Given the description of an element on the screen output the (x, y) to click on. 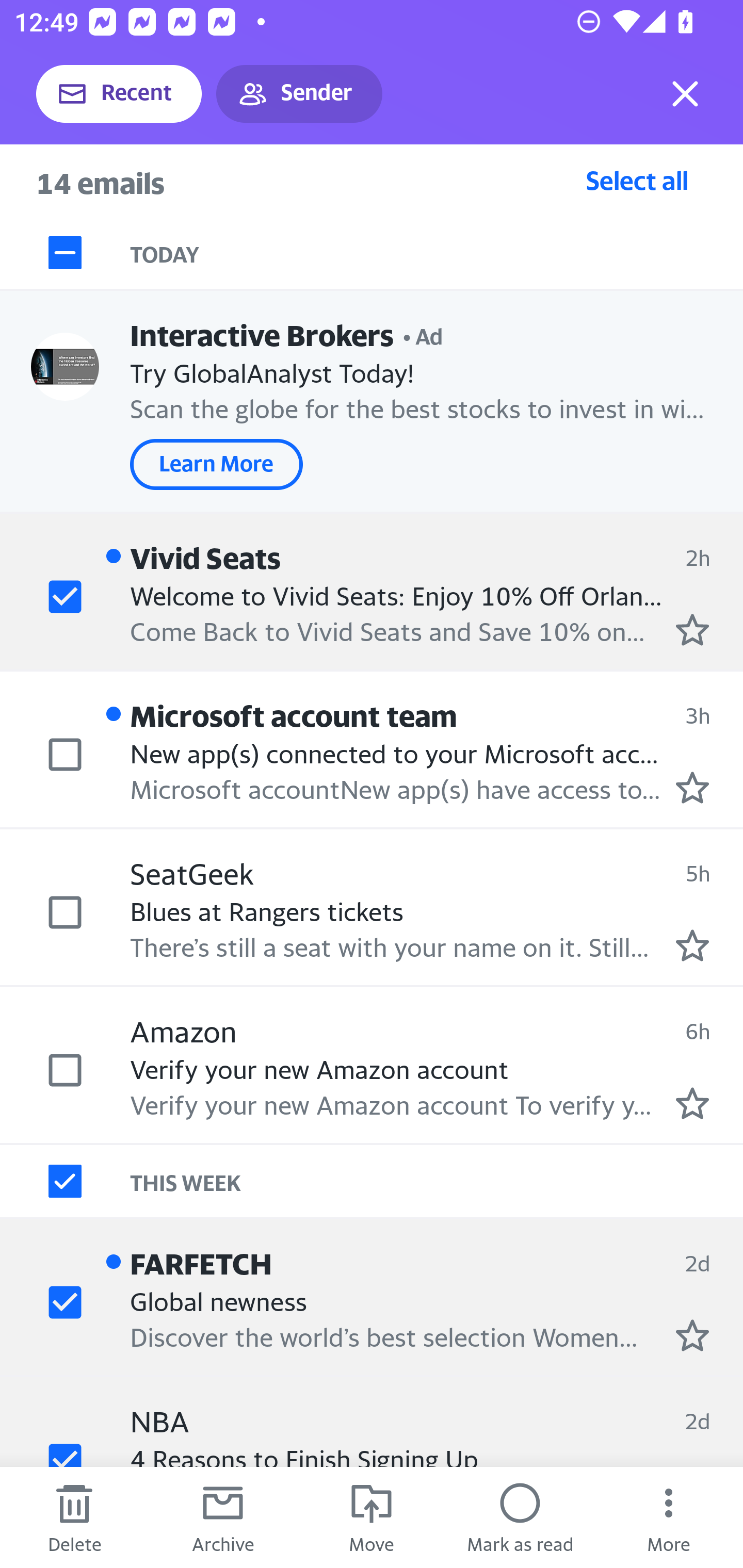
Sender (299, 93)
Exit selection mode (684, 93)
Select all (637, 180)
TODAY (436, 252)
Mark as starred. (692, 629)
Mark as starred. (692, 787)
Mark as starred. (692, 944)
Mark as starred. (692, 1103)
THIS WEEK (436, 1181)
Mark as starred. (692, 1335)
Delete (74, 1517)
Archive (222, 1517)
Move (371, 1517)
Mark as read (519, 1517)
More (668, 1517)
